Given the description of an element on the screen output the (x, y) to click on. 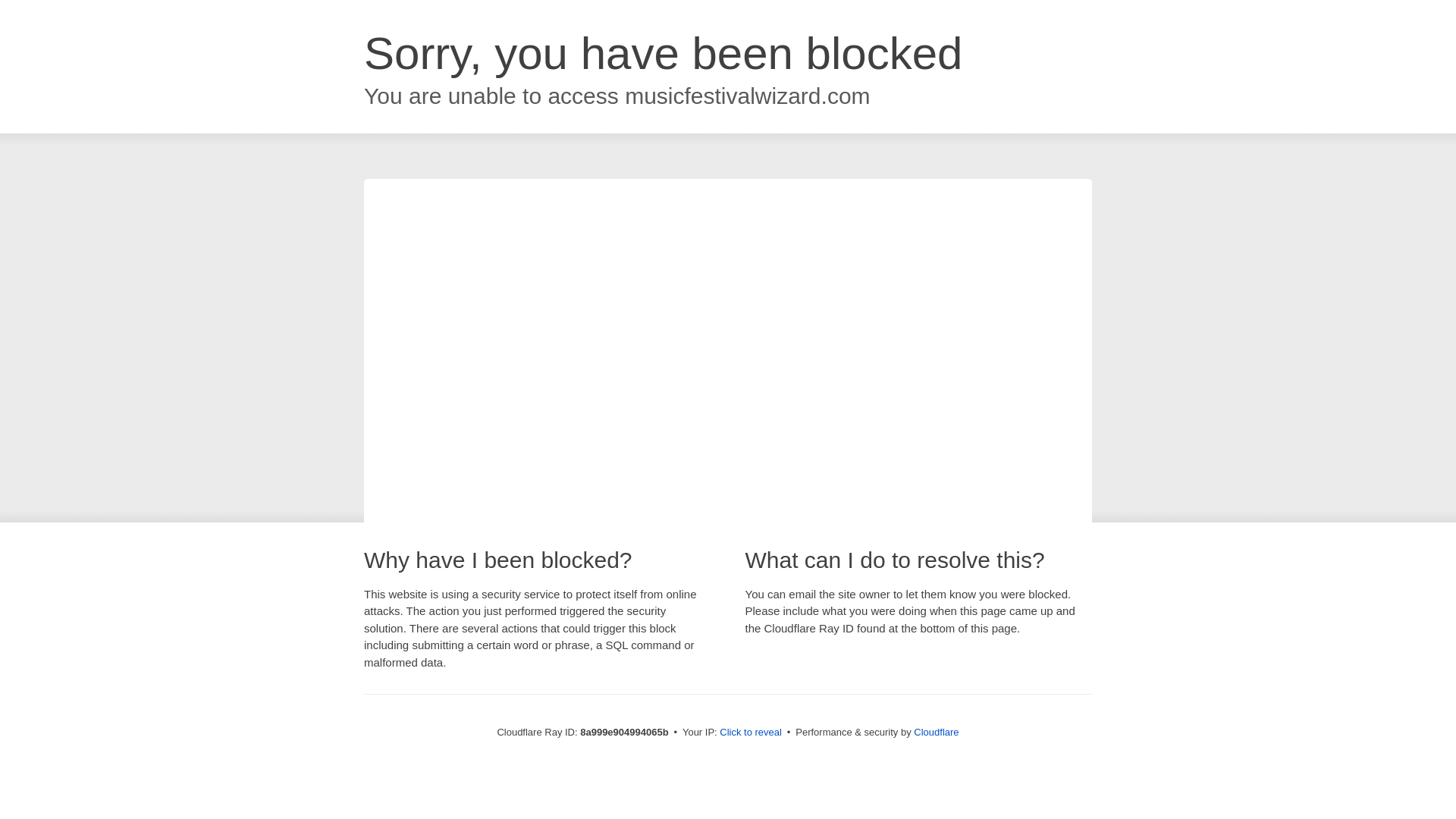
Cloudflare (936, 731)
Click to reveal (750, 732)
